Given the description of an element on the screen output the (x, y) to click on. 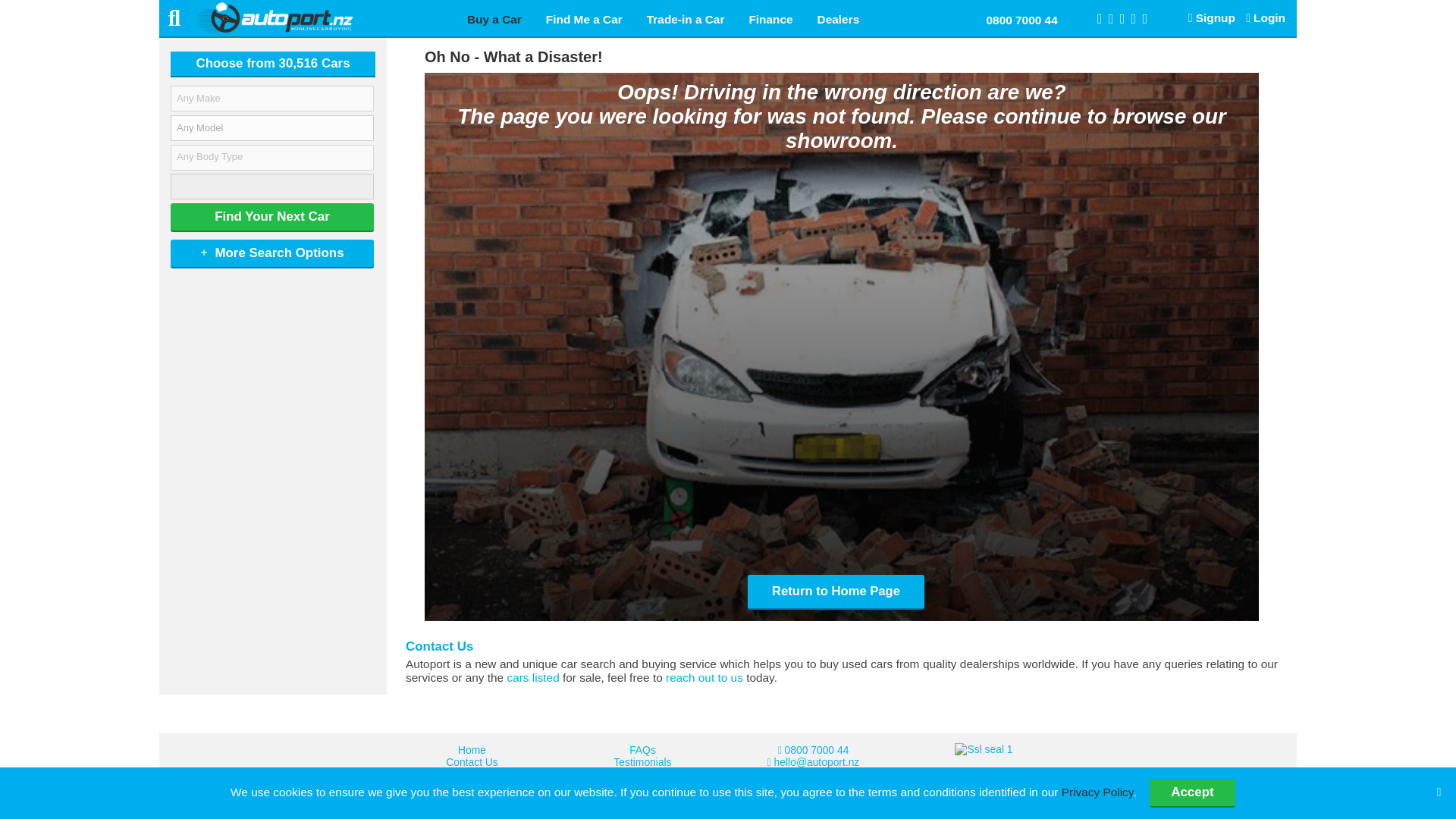
Autoport.nz (301, 15)
Trade-in a Car (685, 18)
0800 7000 44 (1022, 18)
Dealers (838, 18)
Privacy Policy (1097, 791)
Find Me a Car (584, 18)
Buy a Car (494, 18)
Finance (770, 18)
Find Your Next Car (272, 217)
